Given the description of an element on the screen output the (x, y) to click on. 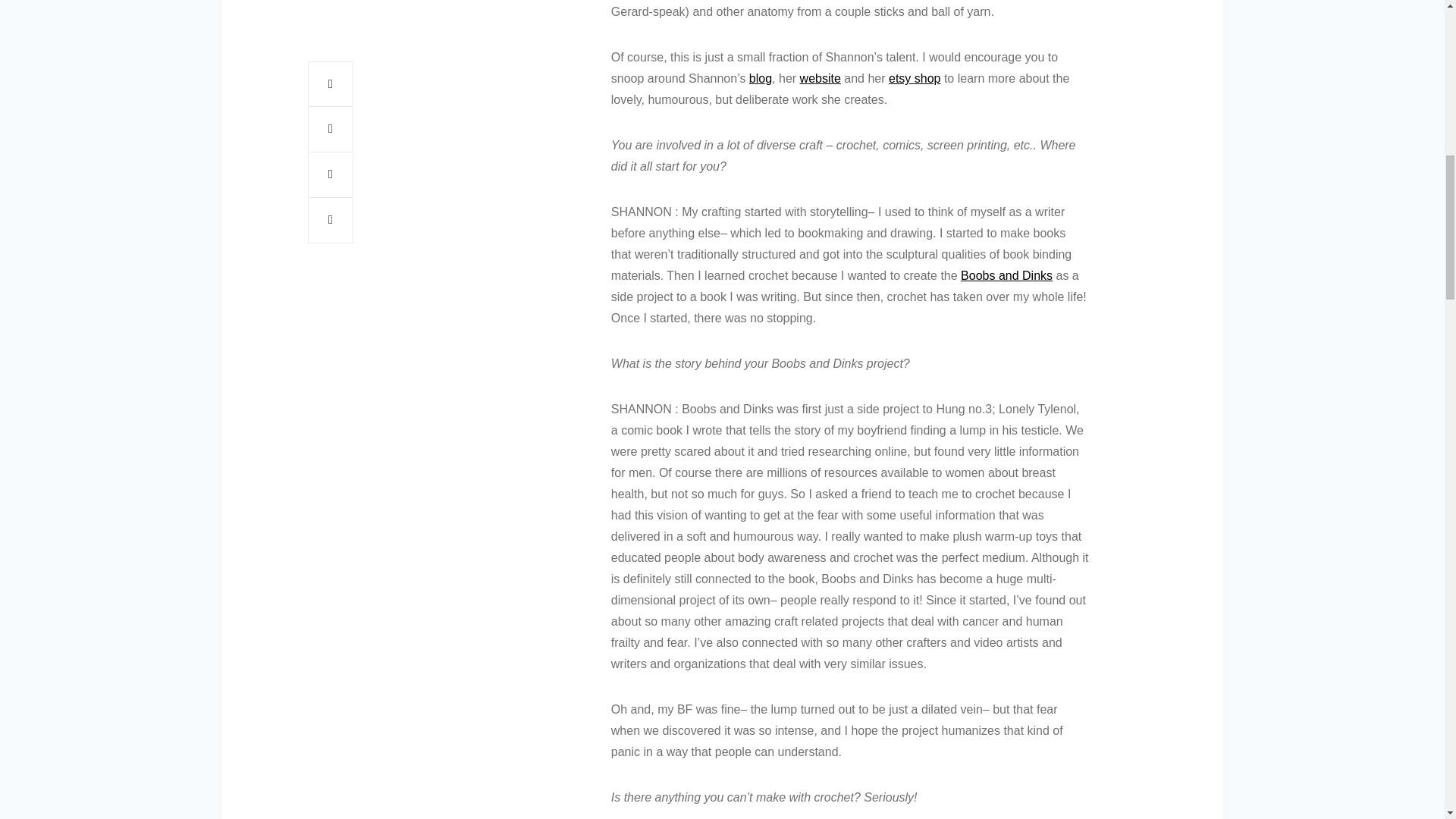
etsy shop (914, 78)
website (820, 78)
Boobs and Dinks (1006, 275)
blog (760, 78)
